Given the description of an element on the screen output the (x, y) to click on. 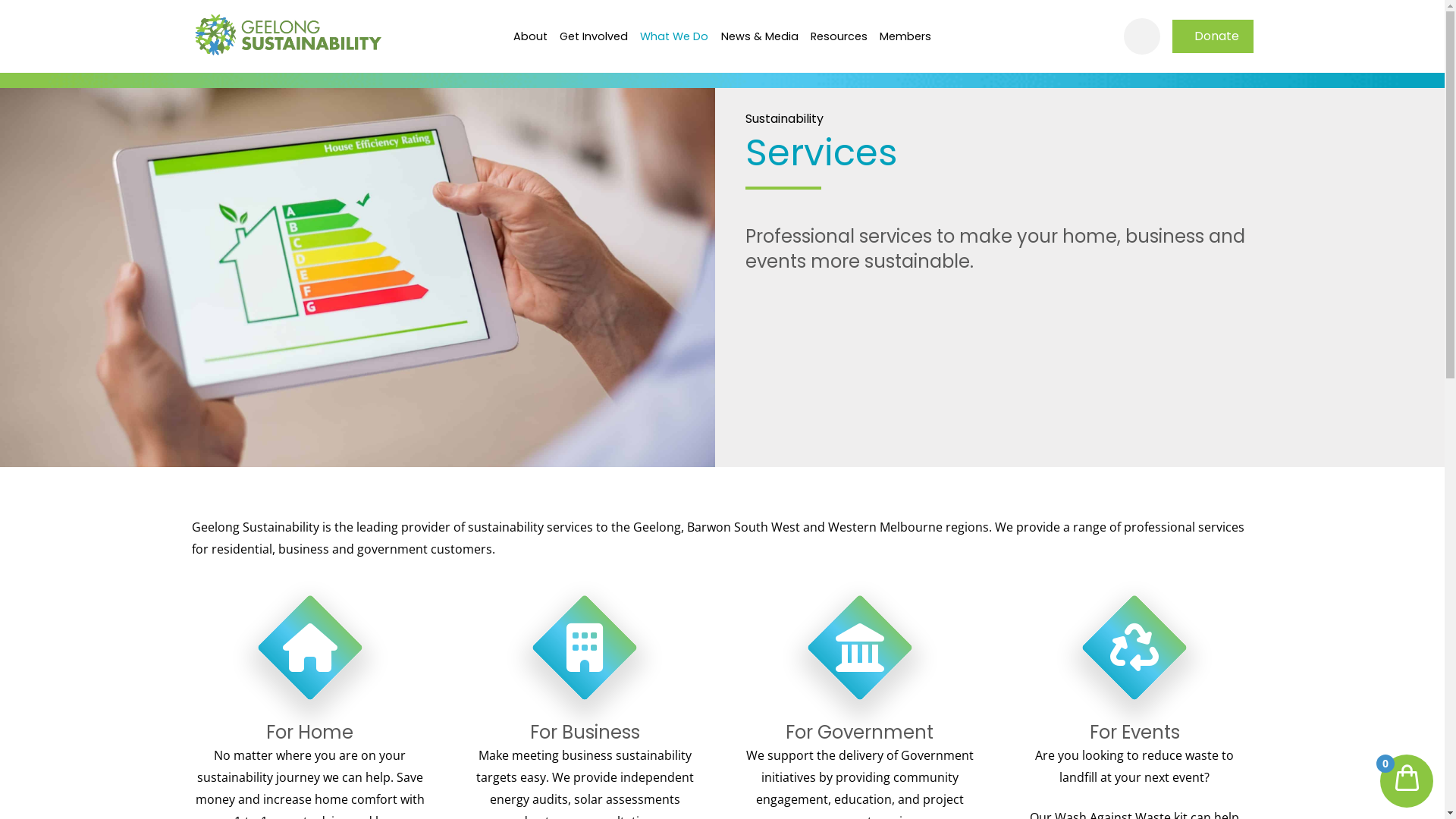
About Element type: text (529, 36)
Donate Element type: text (1212, 36)
What We Do Element type: text (673, 36)
News & Media Element type: text (758, 36)
Members Element type: text (905, 36)
Resources Element type: text (838, 36)
Get Involved Element type: text (593, 36)
